Given the description of an element on the screen output the (x, y) to click on. 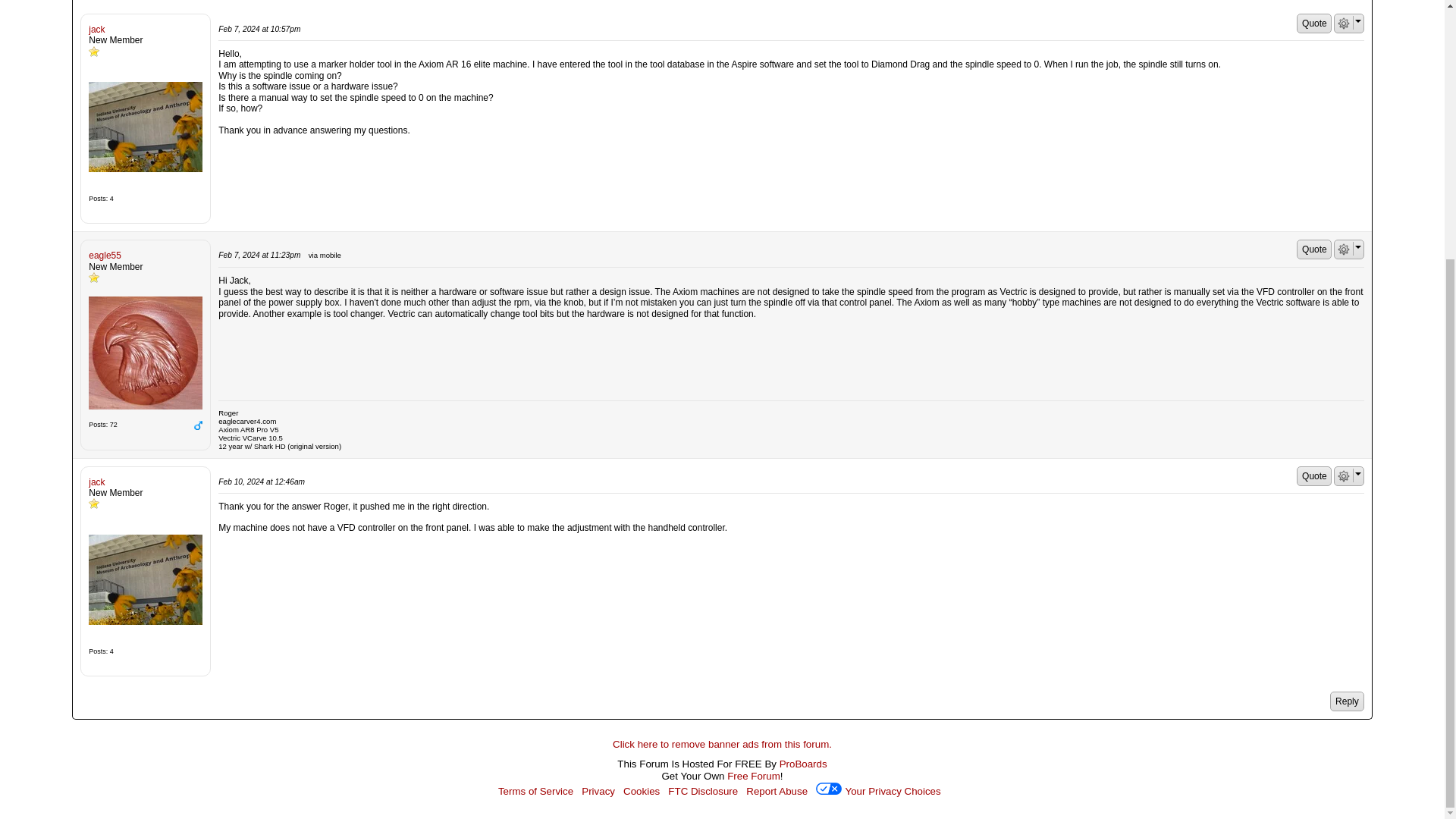
jack (145, 127)
Post Options (1343, 249)
Post Options (1343, 476)
jack (145, 579)
Post Options (1343, 23)
Male (197, 424)
eagle55 (145, 353)
